Given the description of an element on the screen output the (x, y) to click on. 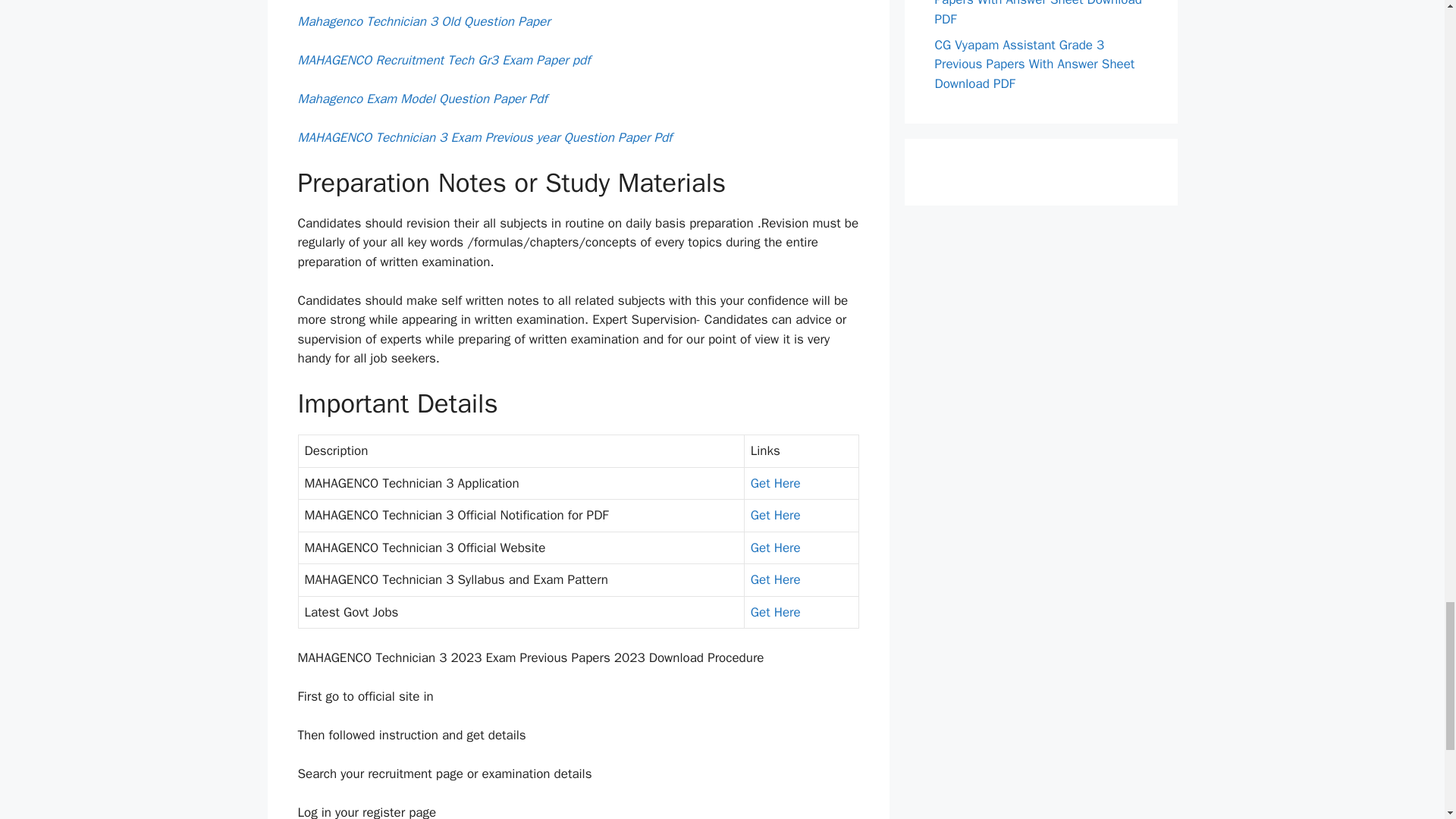
Get Here (775, 579)
Mahagenco Exam Model Question Paper Pdf (422, 98)
Mahagenco Technician 3 Old Question Paper (423, 21)
Get Here (775, 483)
Get Here (775, 547)
MAHAGENCO Recruitment Tech Gr3 Exam Paper pdf (443, 59)
MAHAGENCO Technician 3 Exam Previous year Question Paper Pdf (484, 137)
Get Here (775, 514)
